Given the description of an element on the screen output the (x, y) to click on. 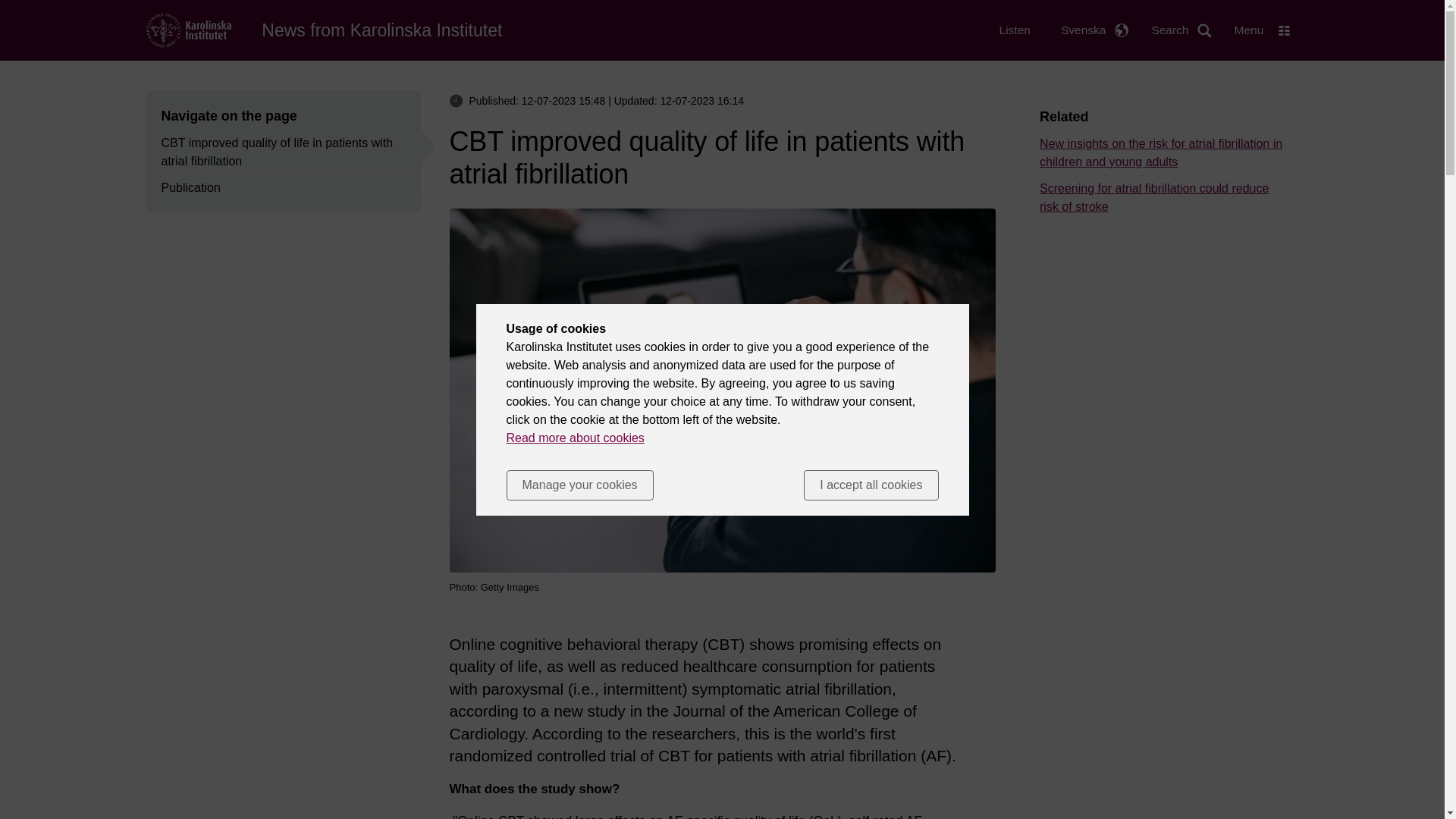
News from Karolinska Institutet (382, 30)
Listen (1014, 30)
Home (382, 30)
Home (188, 29)
Publication (189, 188)
